Given the description of an element on the screen output the (x, y) to click on. 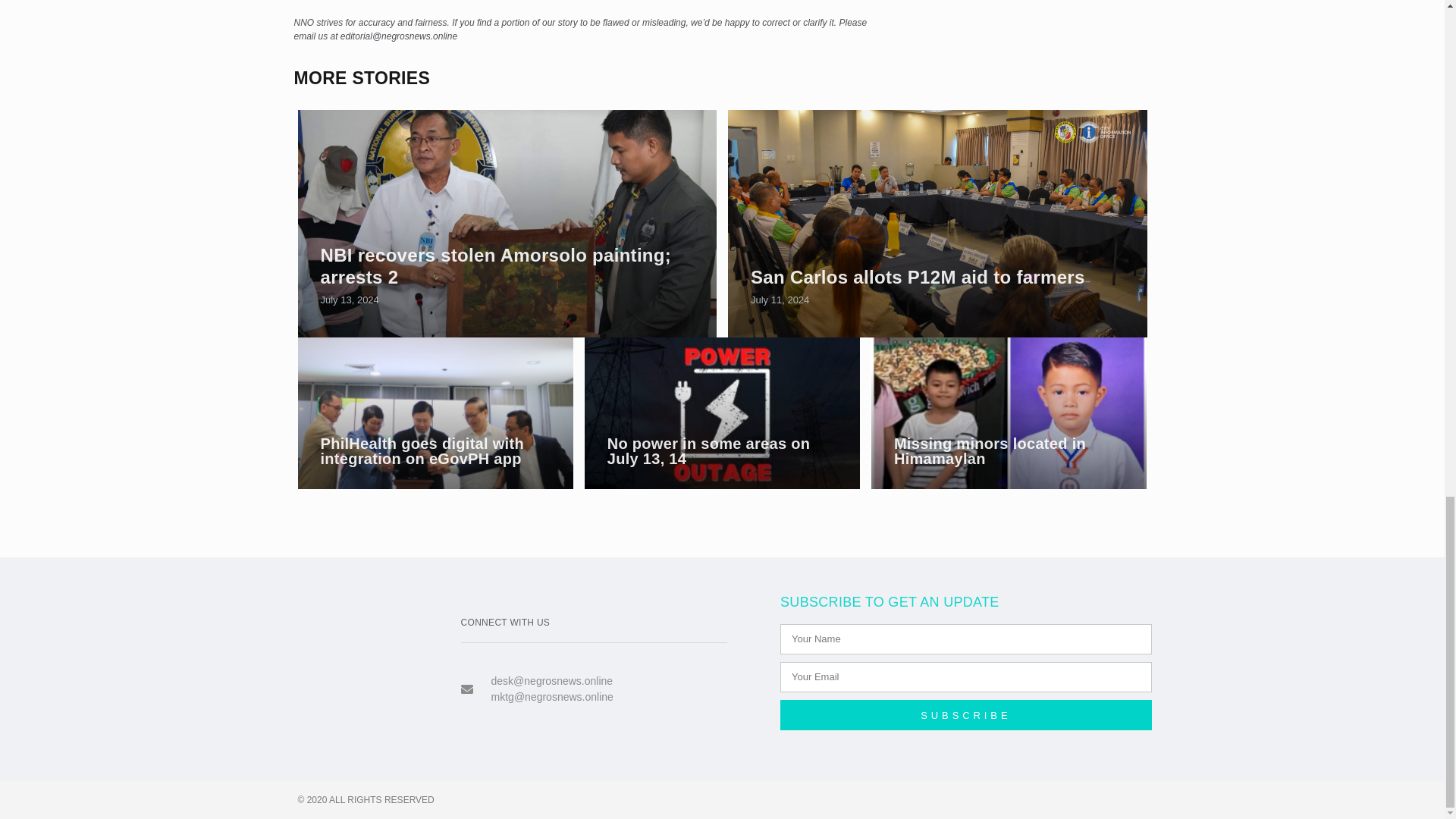
NBI recovers stolen Amorsolo painting; arrests 2 (506, 223)
No power in some areas on July 13, 14 (708, 450)
PhilHealth goes digital with integration on eGovPH app (434, 412)
Missing minors located in Himamaylan (1008, 412)
SUBSCRIBE (965, 715)
San Carlos allots P12M aid to farmers (917, 276)
No power in some areas on July 13, 14 (722, 412)
PhilHealth goes digital with integration on eGovPH app (421, 450)
No power in some areas on July 13, 14 (708, 450)
NBI recovers stolen Amorsolo painting; arrests 2 (495, 265)
San Carlos allots P12M aid to farmers (937, 223)
Missing minors located in Himamaylan (989, 450)
NBI recovers stolen Amorsolo painting; arrests 2 (495, 265)
PhilHealth goes digital with integration on eGovPH app (421, 450)
Missing minors located in Himamaylan (989, 450)
